Given the description of an element on the screen output the (x, y) to click on. 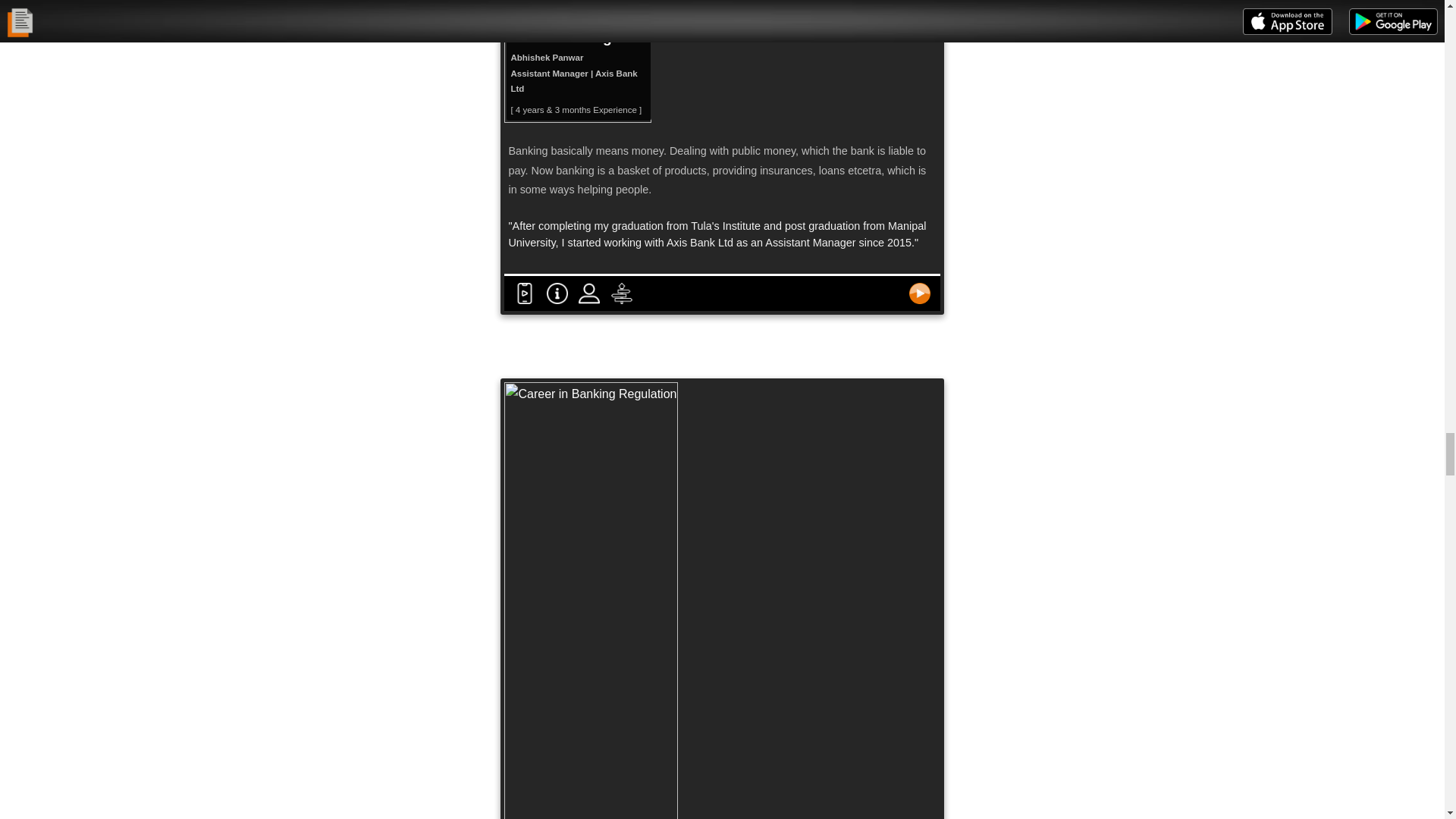
Career Counselling 2.0 (524, 292)
Career Counselling 2.0 (557, 292)
Career Counselling 2.0 (621, 292)
Career Counselling 2.0 (589, 292)
Career in Retail Banking (576, 61)
Career in Banking Regulation (590, 600)
Career Counselling 2.0 (919, 292)
